Given the description of an element on the screen output the (x, y) to click on. 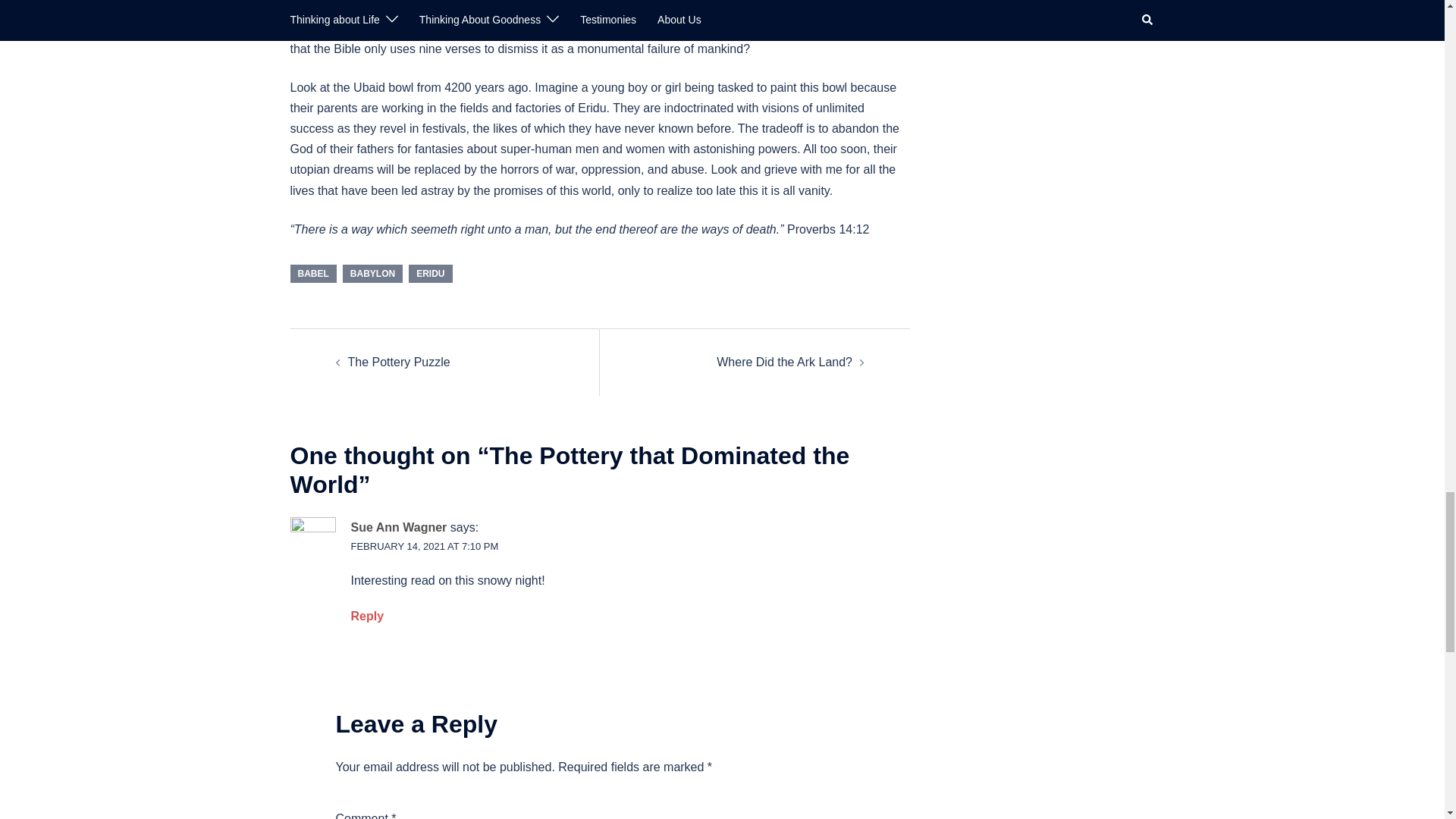
ERIDU (430, 273)
FEBRUARY 14, 2021 AT 7:10 PM (423, 546)
BABEL (312, 273)
The Pottery Puzzle (398, 361)
Reply (367, 615)
Where Did the Ark Land? (783, 361)
BABYLON (372, 273)
